Given the description of an element on the screen output the (x, y) to click on. 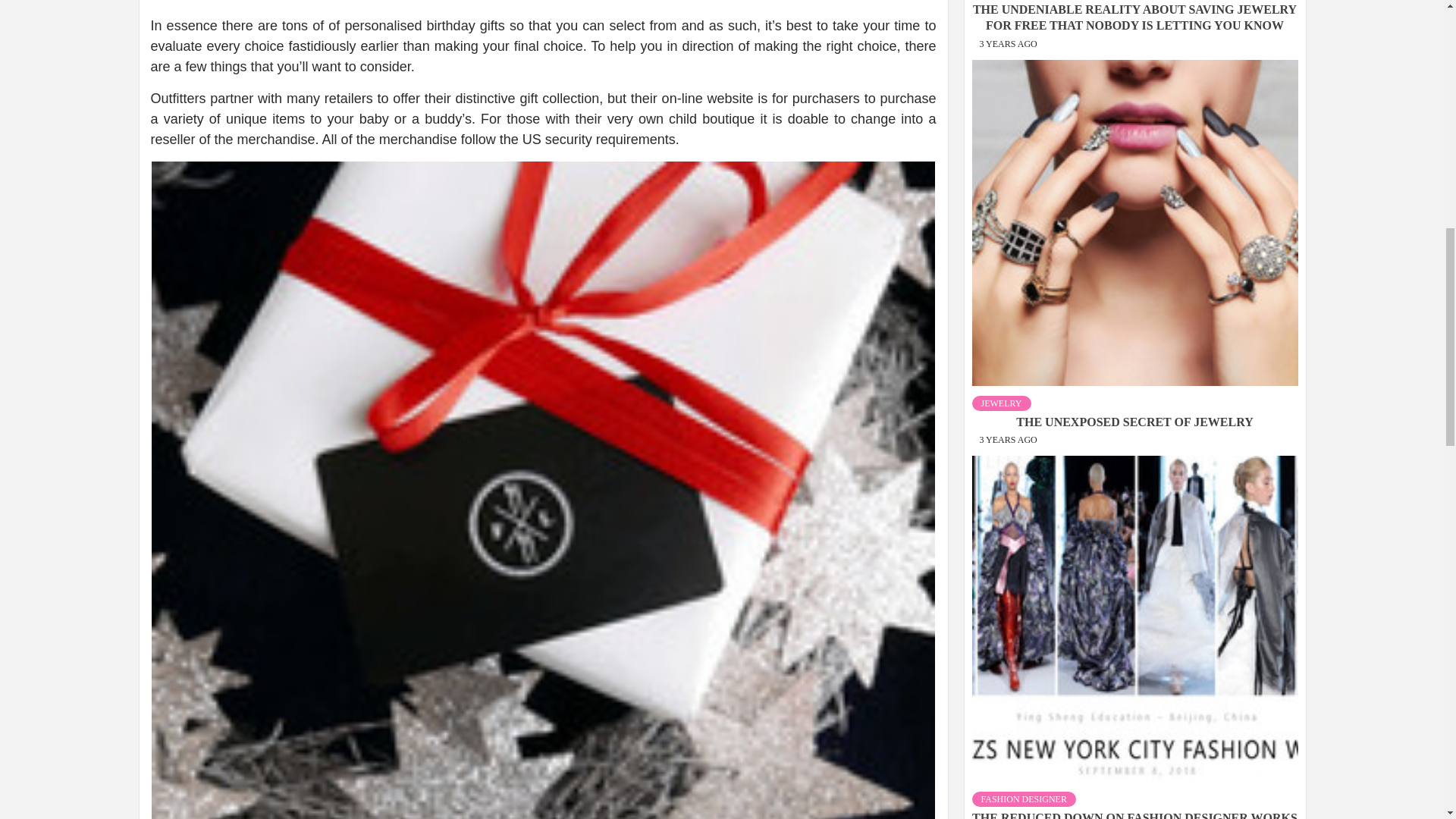
FASHION DESIGNER (1023, 716)
THE REDUCED DOWN ON FASHION DESIGNER WORKS EXPOSED (1134, 742)
JEWELRY (1001, 320)
THE UNEXPOSED SECRET OF JEWELRY (1134, 338)
